Given the description of an element on the screen output the (x, y) to click on. 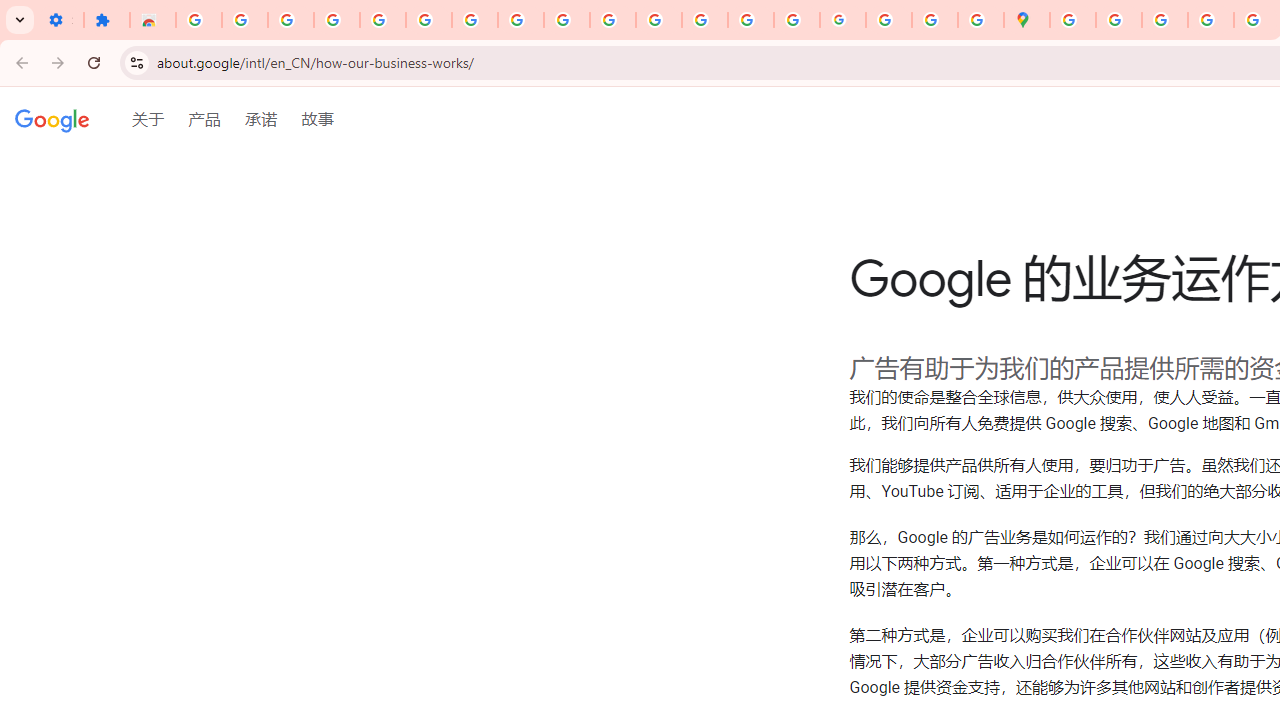
YouTube (567, 20)
Google Maps (1026, 20)
https://scholar.google.com/ (659, 20)
Delete photos & videos - Computer - Google Photos Help (290, 20)
